Given the description of an element on the screen output the (x, y) to click on. 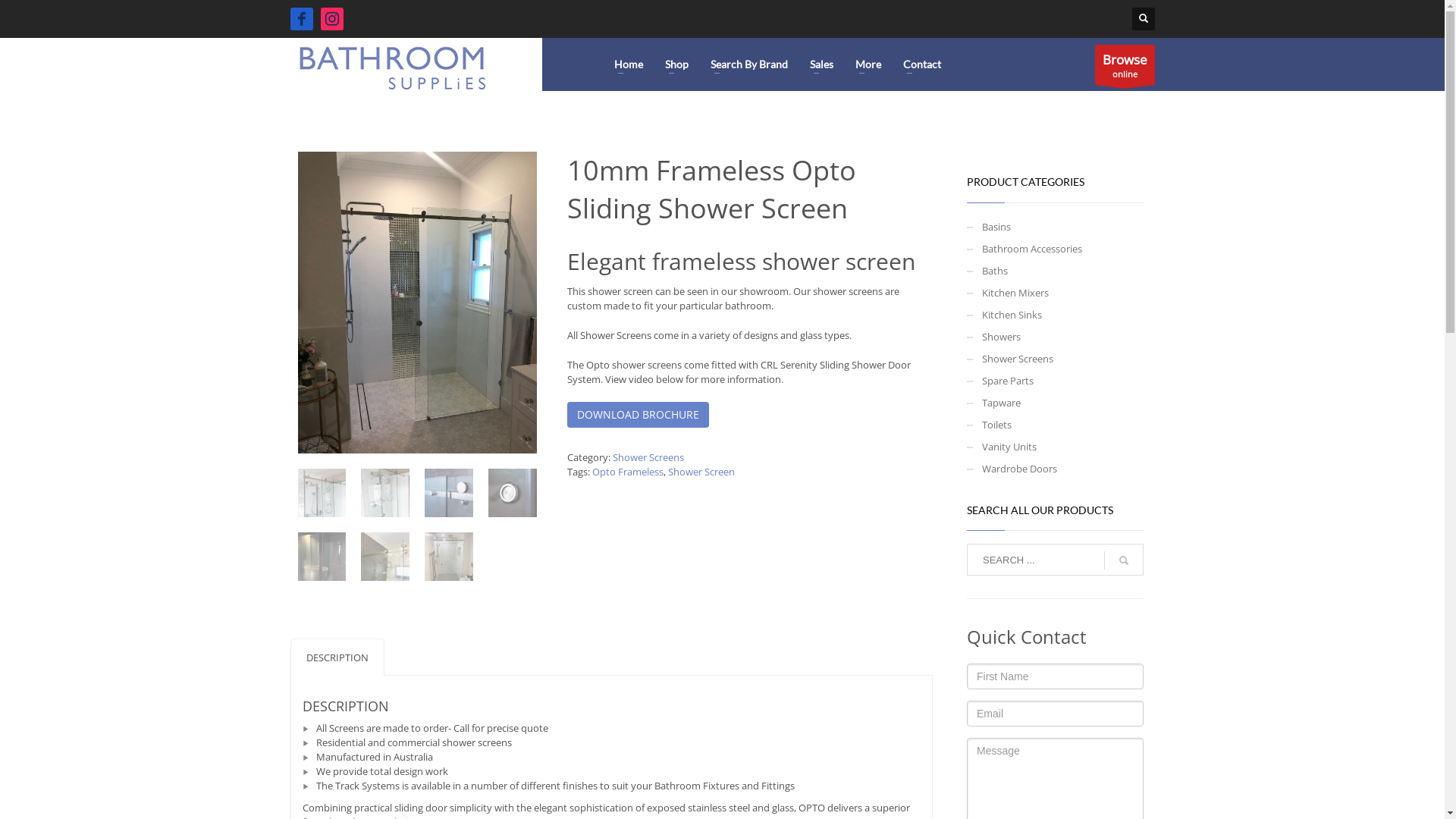
Baths Element type: text (1054, 271)
Opto Frameless Sliding Frosted Privacy Screen Element type: hover (321, 556)
DESCRIPTION Element type: text (336, 656)
Making Your Bathroom Unique Element type: hover (392, 64)
Vanity Units Element type: text (1054, 447)
Shower Screens Element type: text (648, 457)
Facebook Element type: hover (300, 18)
Opto Frameless Element type: text (627, 471)
Basins Element type: text (1054, 227)
Tapware Element type: text (1054, 403)
Toilets Element type: text (1054, 425)
Shower Screens Element type: text (1054, 359)
More Element type: text (868, 64)
Sales Element type: text (821, 64)
Search By Brand Element type: text (749, 64)
Bathroom Accessories Element type: text (1054, 249)
opto shower screen rail Element type: hover (321, 492)
Opto Frameless Shower Opto sliding track Element type: hover (448, 492)
Showers Element type: text (1054, 337)
Kitchen Sinks Element type: text (1054, 315)
Opto Frameless Door handle Element type: hover (512, 492)
Shop Element type: text (676, 64)
Browse
online Element type: text (1124, 63)
Kitchen Mixers Element type: text (1054, 293)
Frameless Opto Sliding Shower Screen Installed Element type: hover (416, 302)
Shower Screen Element type: text (701, 471)
Spare Parts Element type: text (1054, 381)
Wardrobe Doors Element type: text (1054, 469)
Contact Element type: text (922, 64)
Brushed Brass Frameless Sliding Screen Element type: hover (448, 556)
Instagram Element type: hover (331, 18)
go Element type: text (1123, 560)
frameless shower screen Element type: hover (384, 492)
Home Element type: text (628, 64)
DOWNLOAD BROCHURE Element type: text (638, 414)
